Given the description of an element on the screen output the (x, y) to click on. 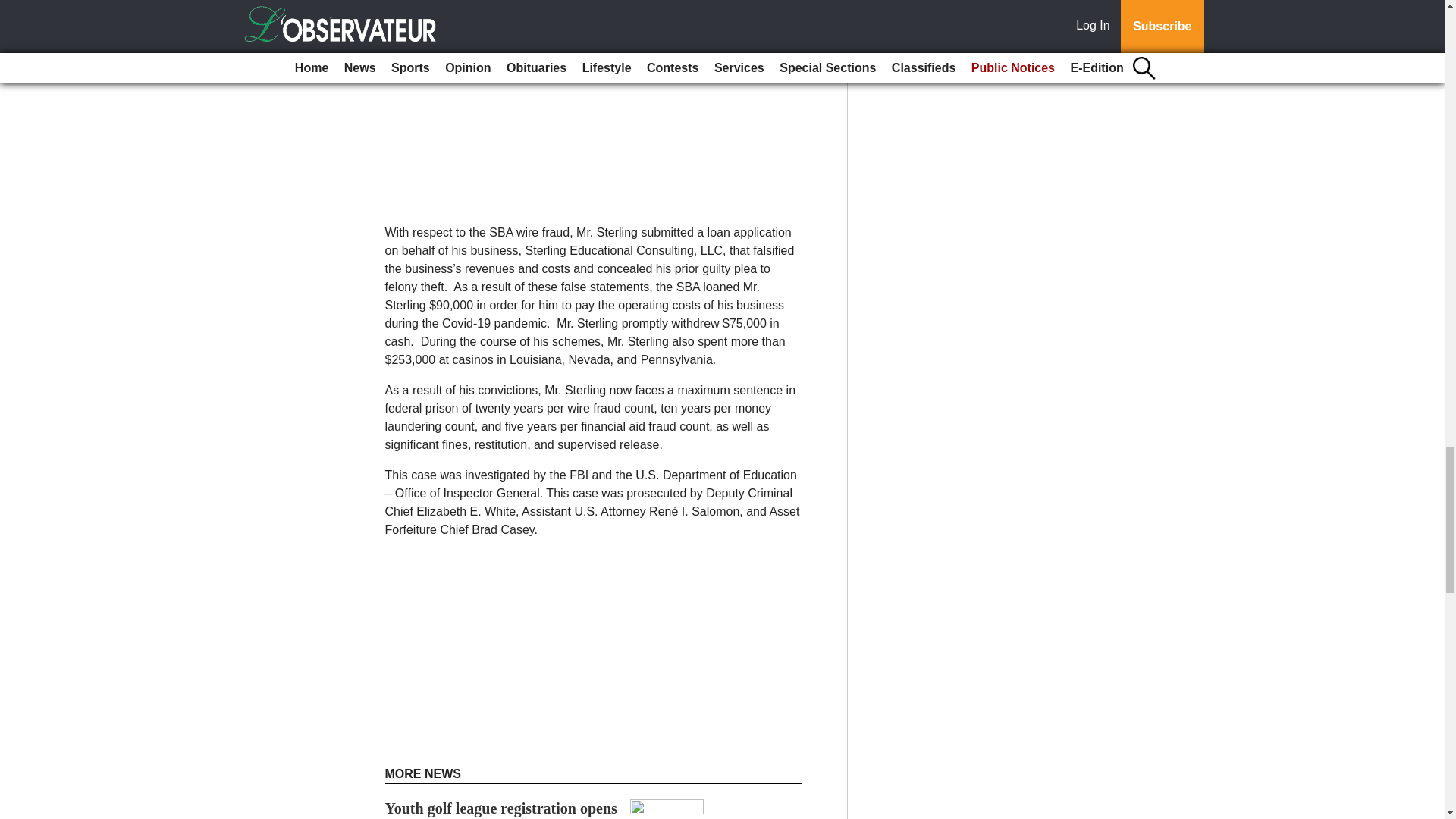
Youth golf league registration opens (501, 808)
Youth golf league registration opens (501, 808)
